Given the description of an element on the screen output the (x, y) to click on. 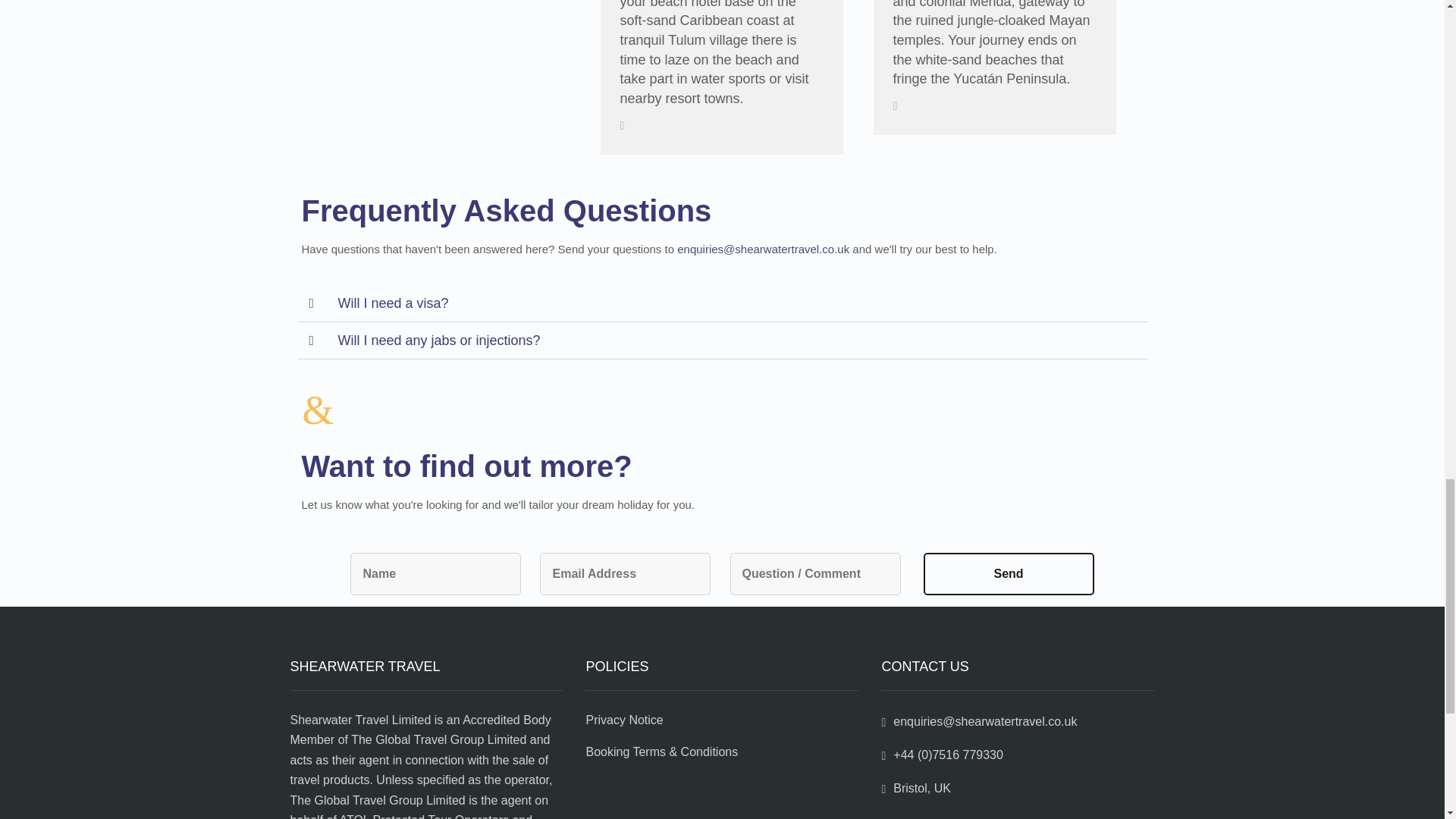
Send (1008, 573)
Page 1 (425, 764)
